Given the description of an element on the screen output the (x, y) to click on. 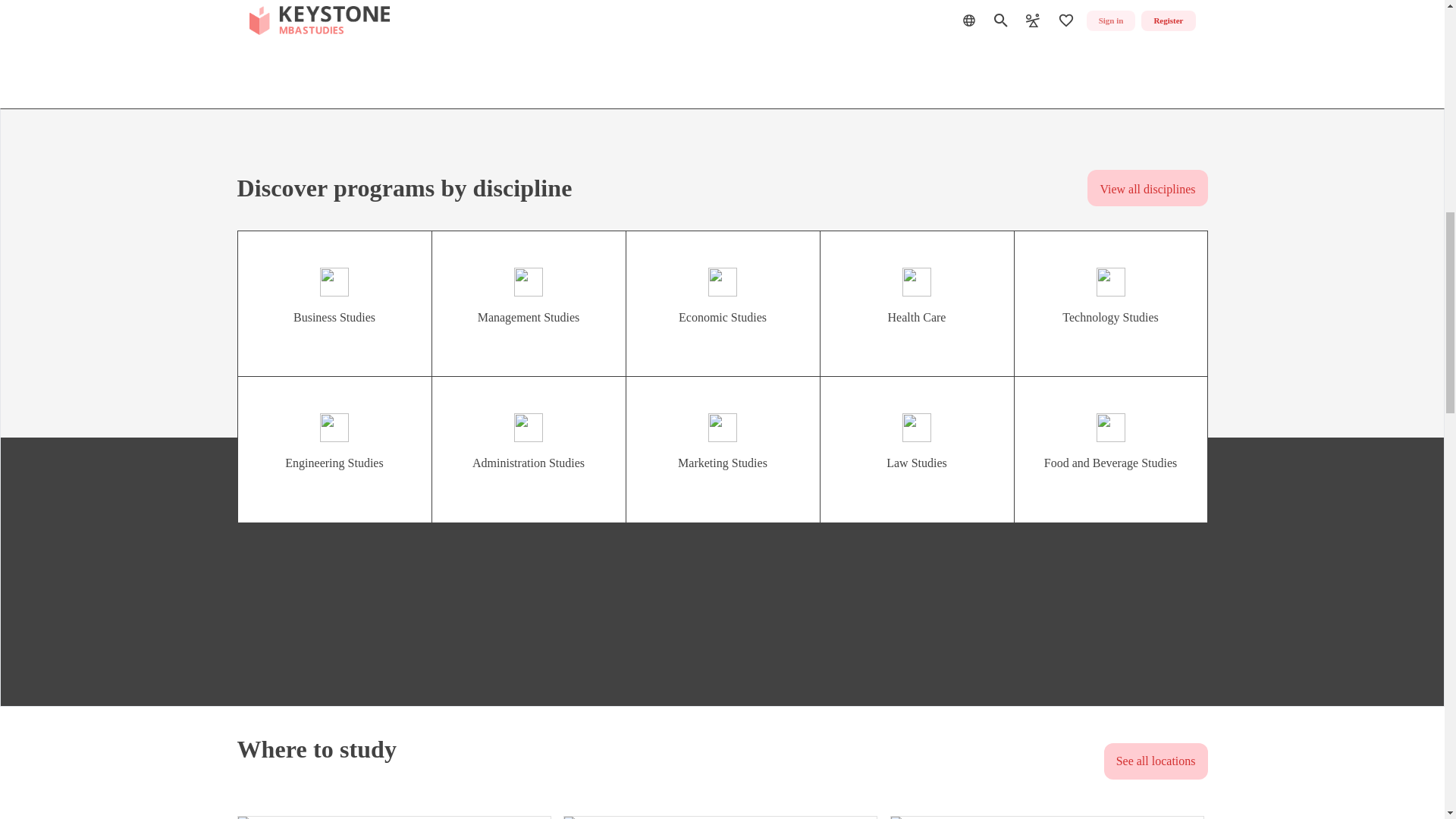
View all disciplines (1147, 187)
